Given the description of an element on the screen output the (x, y) to click on. 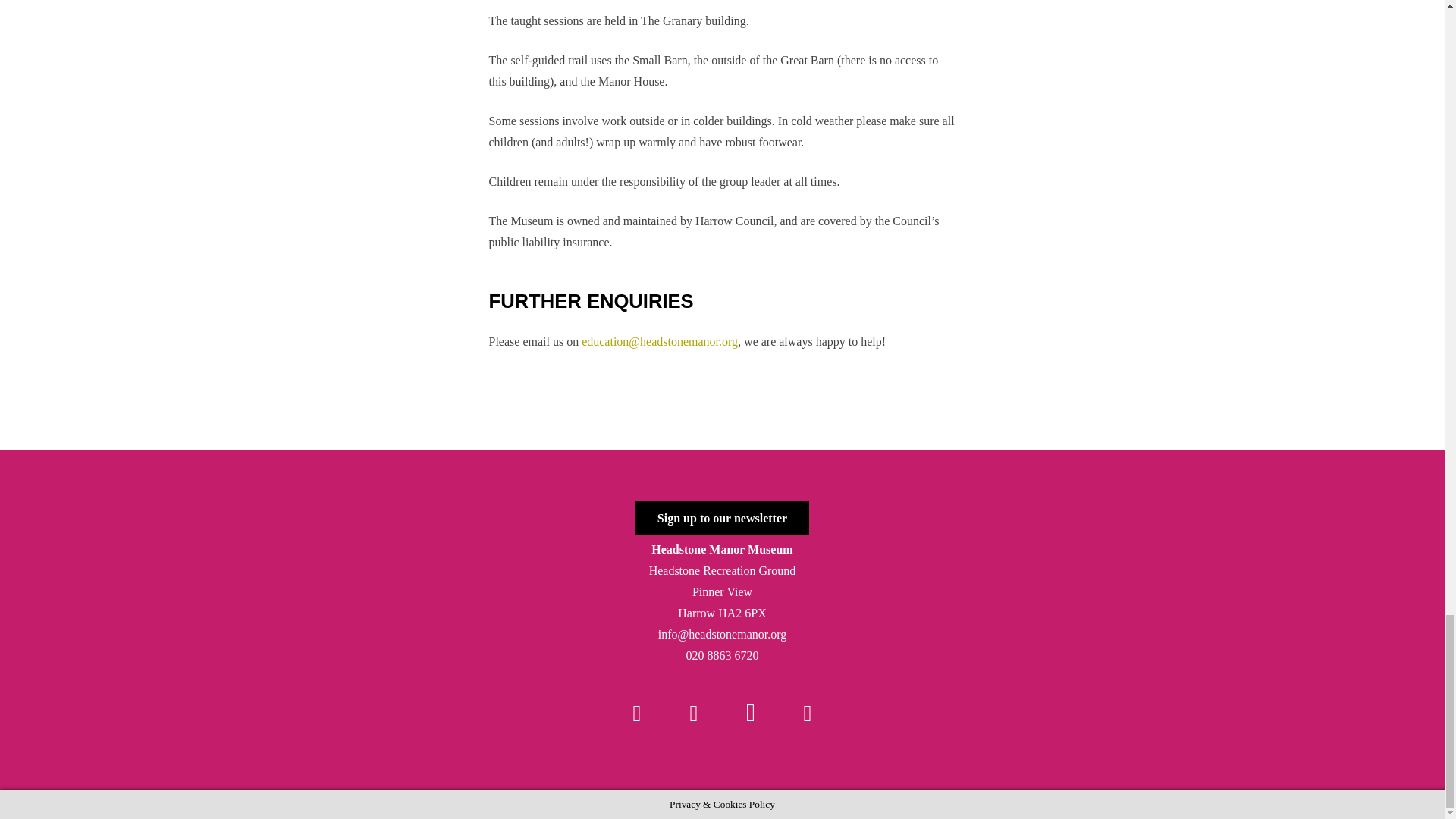
Tripadvisor (806, 713)
Instagram (750, 713)
Facebook (636, 713)
Twitter (693, 713)
